Given the description of an element on the screen output the (x, y) to click on. 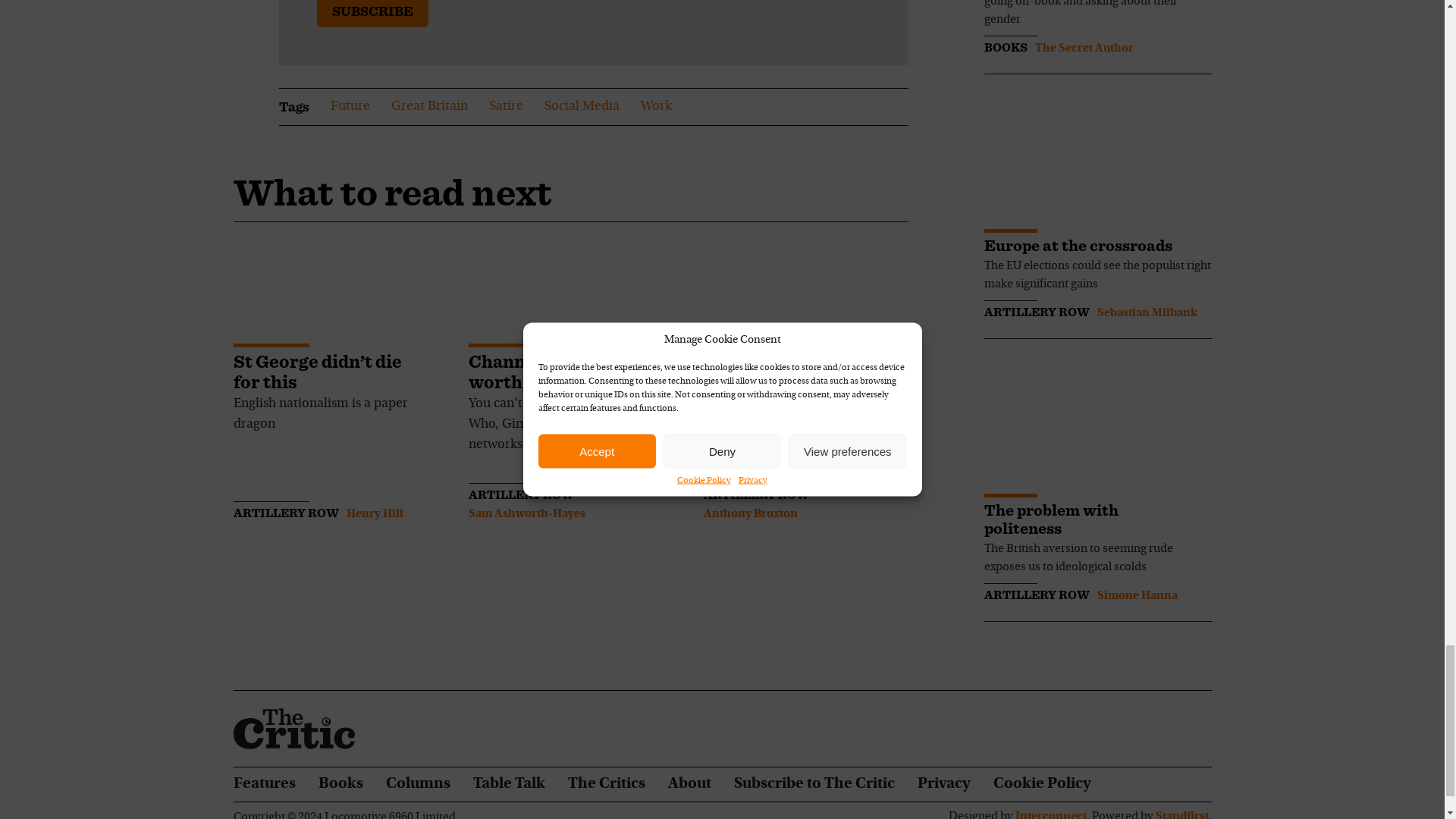
Posts by Simone Hanna (1136, 595)
Posts by Sam Ashworth-Hayes (526, 513)
Posts by Sebastian Milbank (1146, 313)
Posts by Henry Hill (374, 513)
Posts by Anthony Broxton (750, 513)
Posts by The Secret Author (1082, 48)
